Given the description of an element on the screen output the (x, y) to click on. 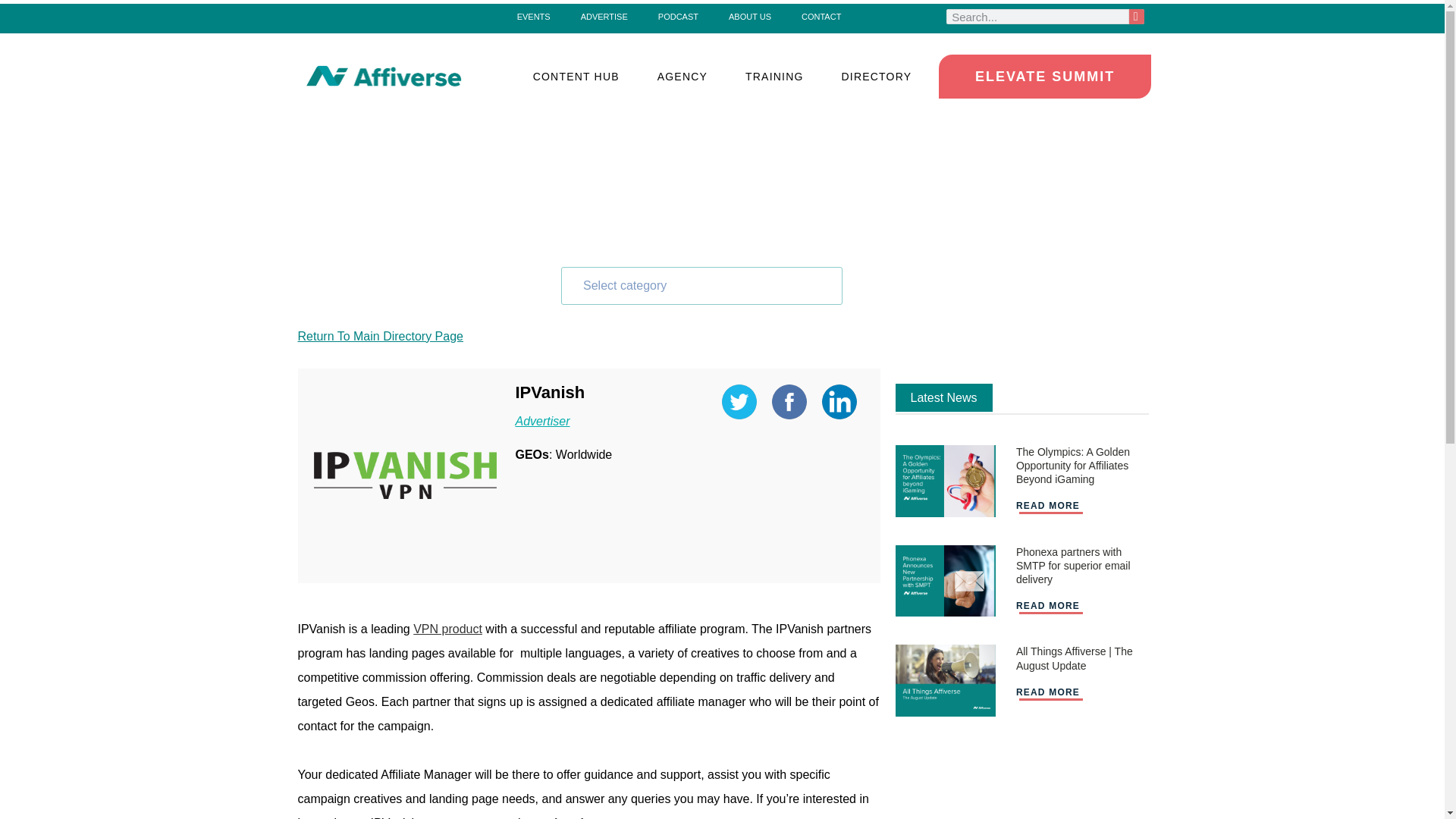
CONTACT (821, 16)
ADVERTISE (604, 16)
EVENTS (534, 16)
ELEVATE SUMMIT (1045, 76)
AGENCY (682, 76)
ABOUT US (749, 16)
PODCAST (678, 16)
CONTENT HUB (576, 76)
TRAINING (774, 76)
DIRECTORY (876, 76)
